Given the description of an element on the screen output the (x, y) to click on. 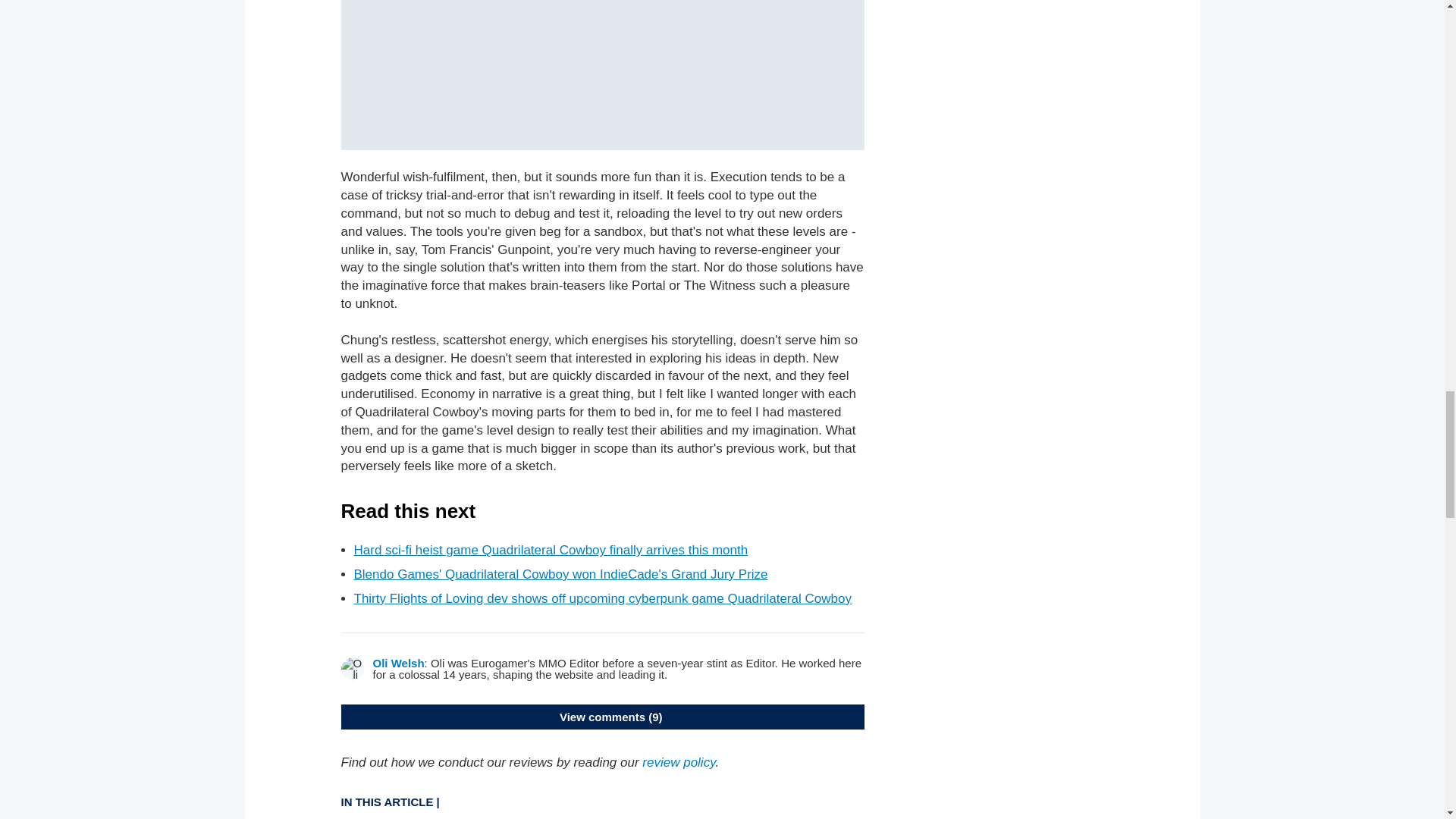
Oli Welsh (398, 662)
